Given the description of an element on the screen output the (x, y) to click on. 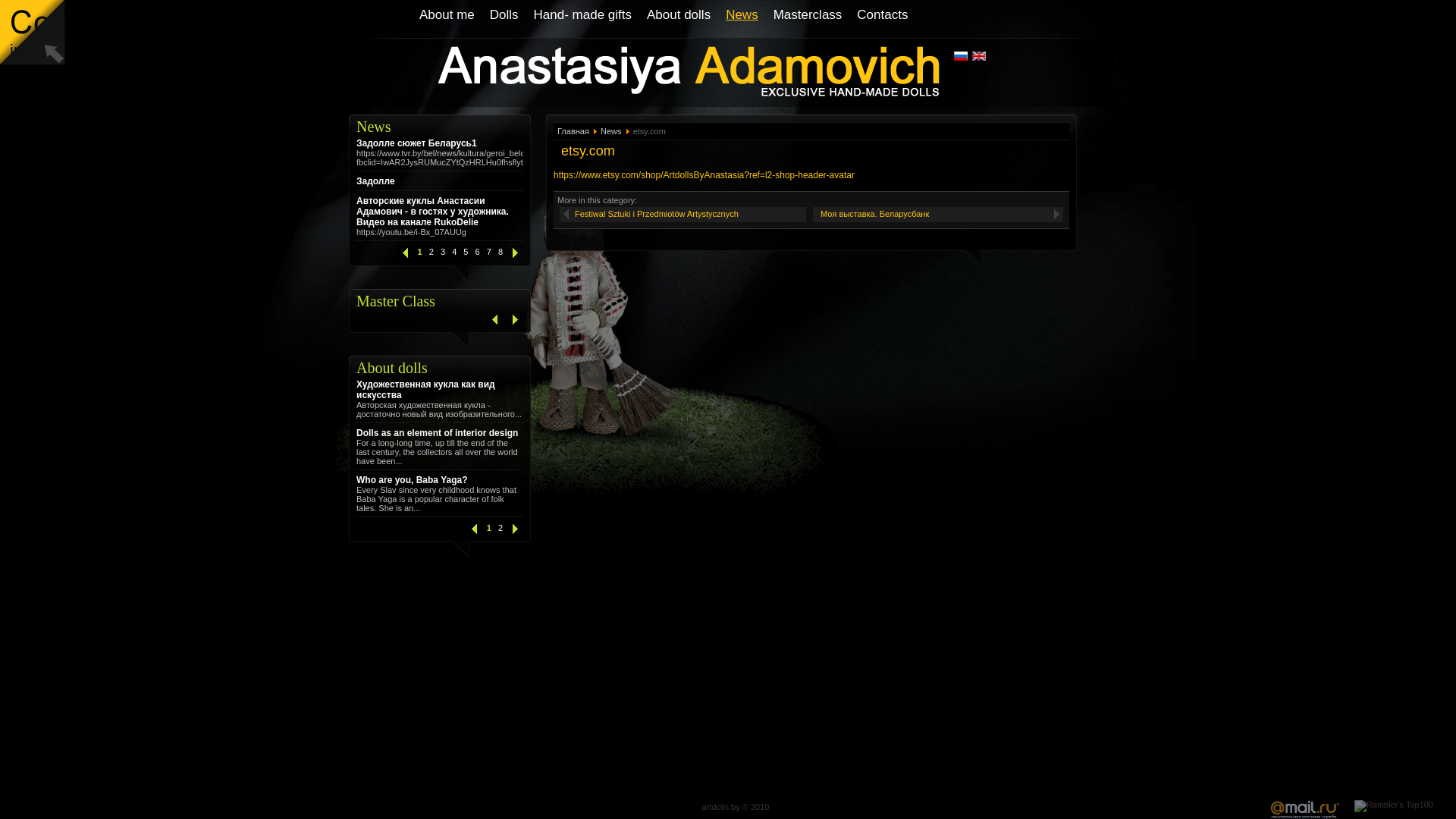
Dolls Element type: text (503, 14)
English (United Kingdom) Element type: hover (978, 55)
News Element type: text (741, 14)
Masterclass Element type: text (807, 14)
Dolls as an element of interior design Element type: text (439, 432)
Hand- made gifts Element type: text (582, 14)
Russian (CIS) Element type: hover (960, 55)
News Element type: text (610, 130)
Contacts Element type: text (881, 14)
Who are you, Baba Yaga? Element type: text (439, 479)
About me Element type: text (446, 14)
About dolls Element type: text (678, 14)
